Given the description of an element on the screen output the (x, y) to click on. 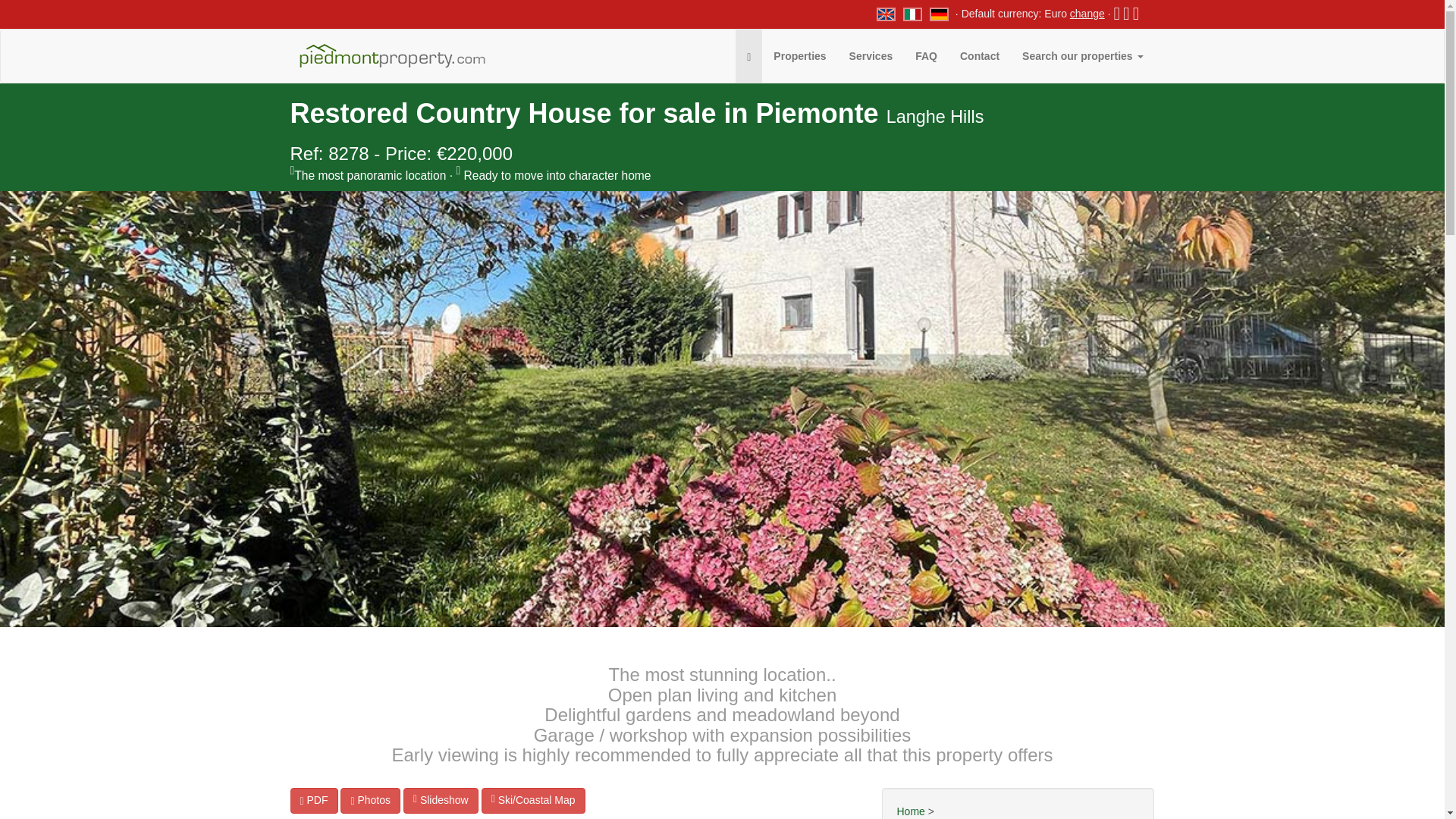
change (1087, 13)
Piemonte real estate (885, 13)
Restored Country House for sale in Piemonte (939, 13)
Contact (979, 55)
PDF (313, 800)
Properties (799, 55)
Search our properties (1082, 55)
Slideshow (441, 800)
Photos (370, 800)
Restored Country House for sale in Piemonte (912, 13)
Front view (441, 800)
Services (871, 55)
